Given the description of an element on the screen output the (x, y) to click on. 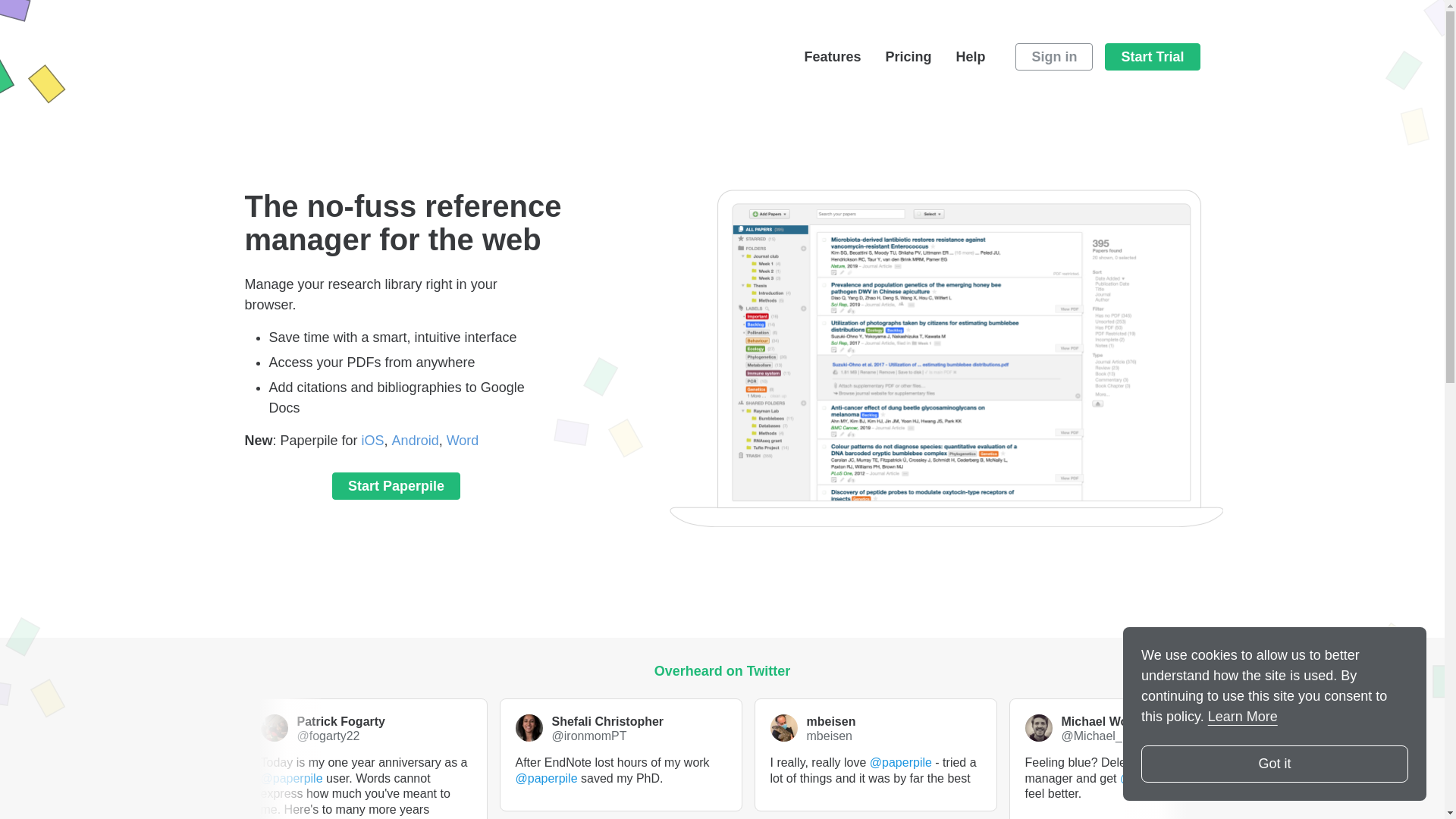
Start Trial (1152, 56)
iOS (372, 440)
Features (831, 55)
Help (970, 55)
Android (415, 440)
Learn More (1243, 716)
Sign in (1053, 56)
Start Paperpile (395, 485)
Pricing (908, 55)
Got it (1274, 763)
Word (462, 440)
